Given the description of an element on the screen output the (x, y) to click on. 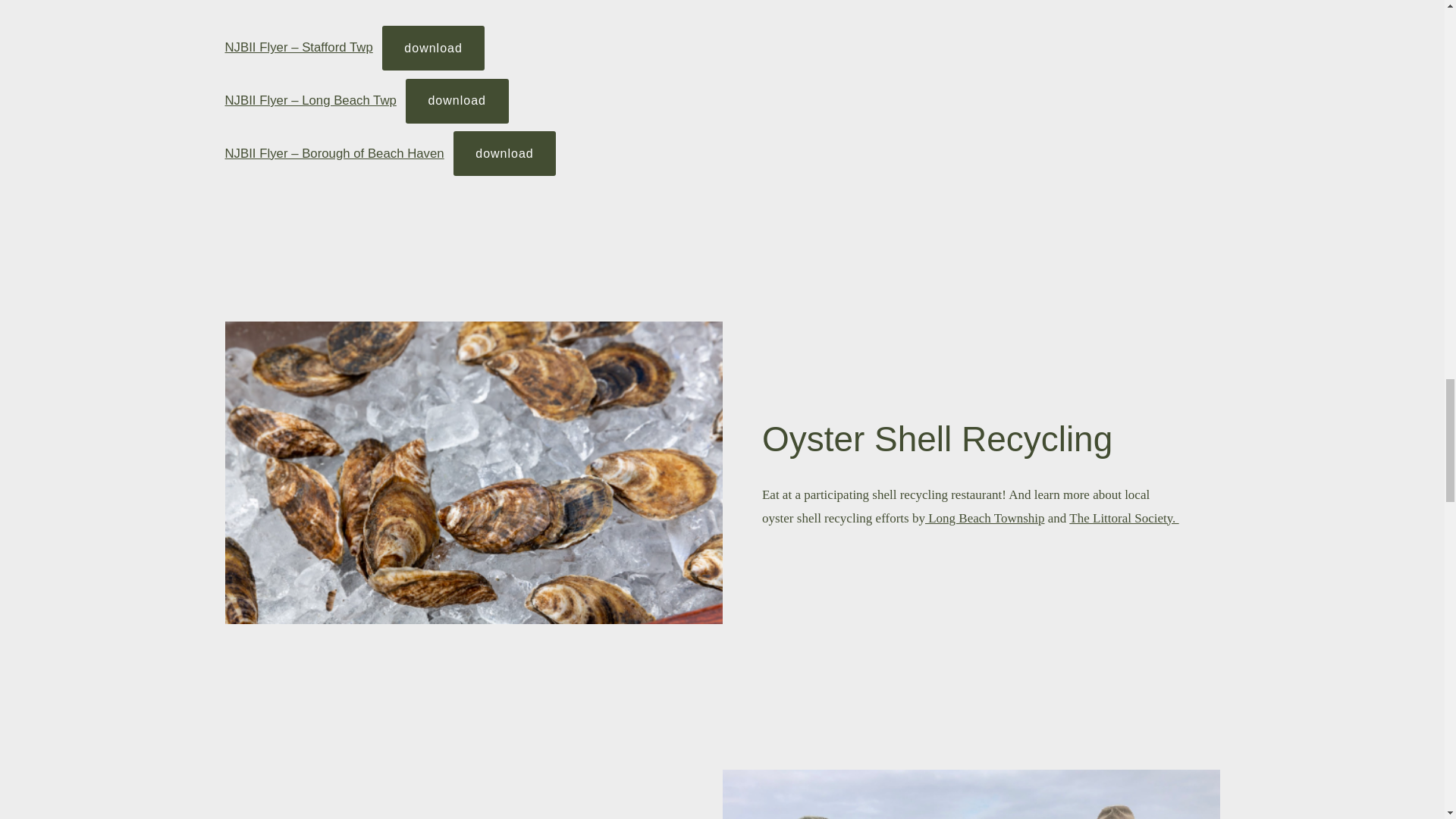
Long Beach Township (984, 518)
download (432, 47)
The Littoral Society.  (1122, 518)
download (457, 100)
download (504, 153)
